Given the description of an element on the screen output the (x, y) to click on. 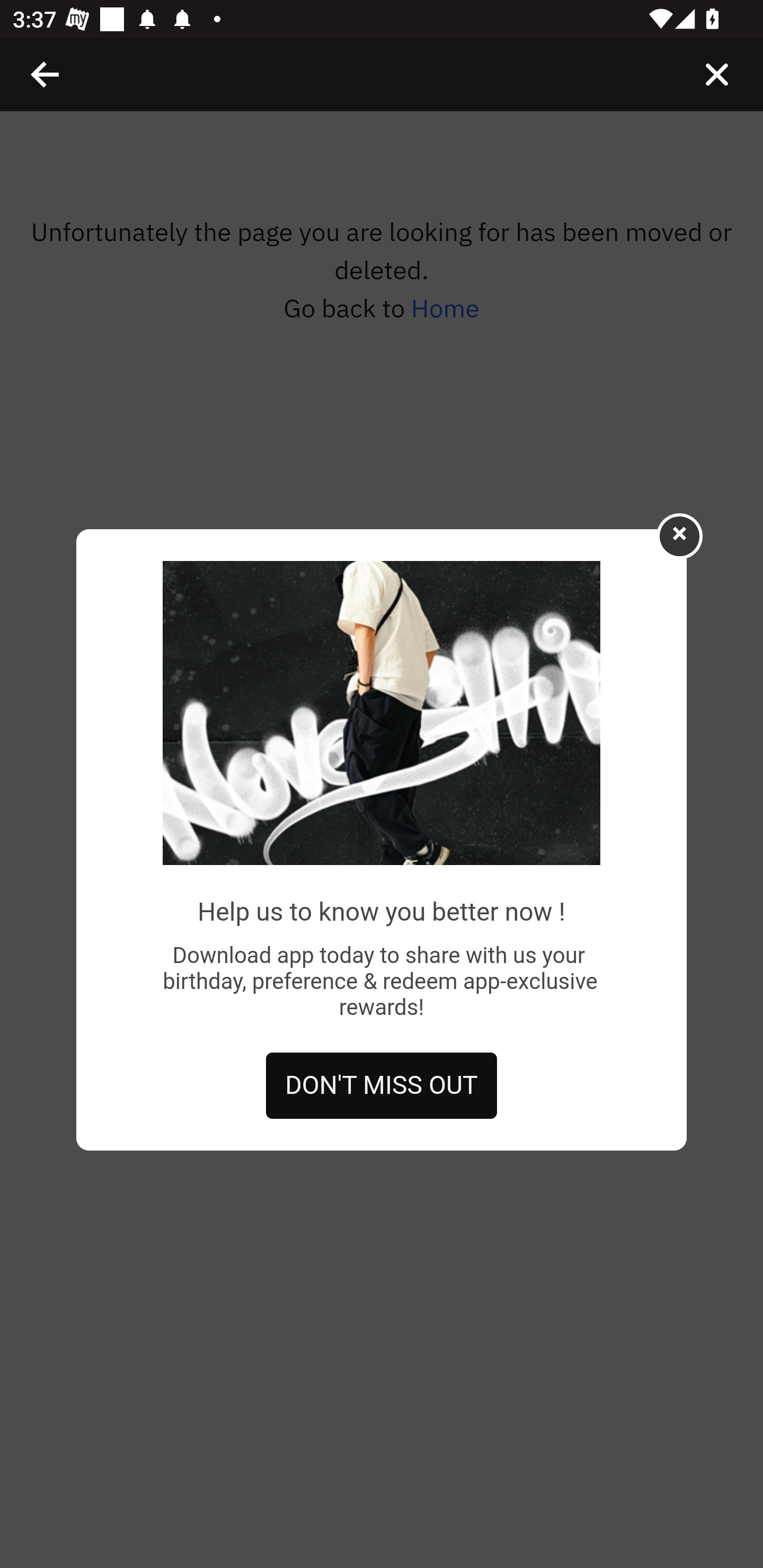
 (46, 74)
 (716, 74)
× (679, 535)
DON'T MISS OUT (381, 1086)
